Given the description of an element on the screen output the (x, y) to click on. 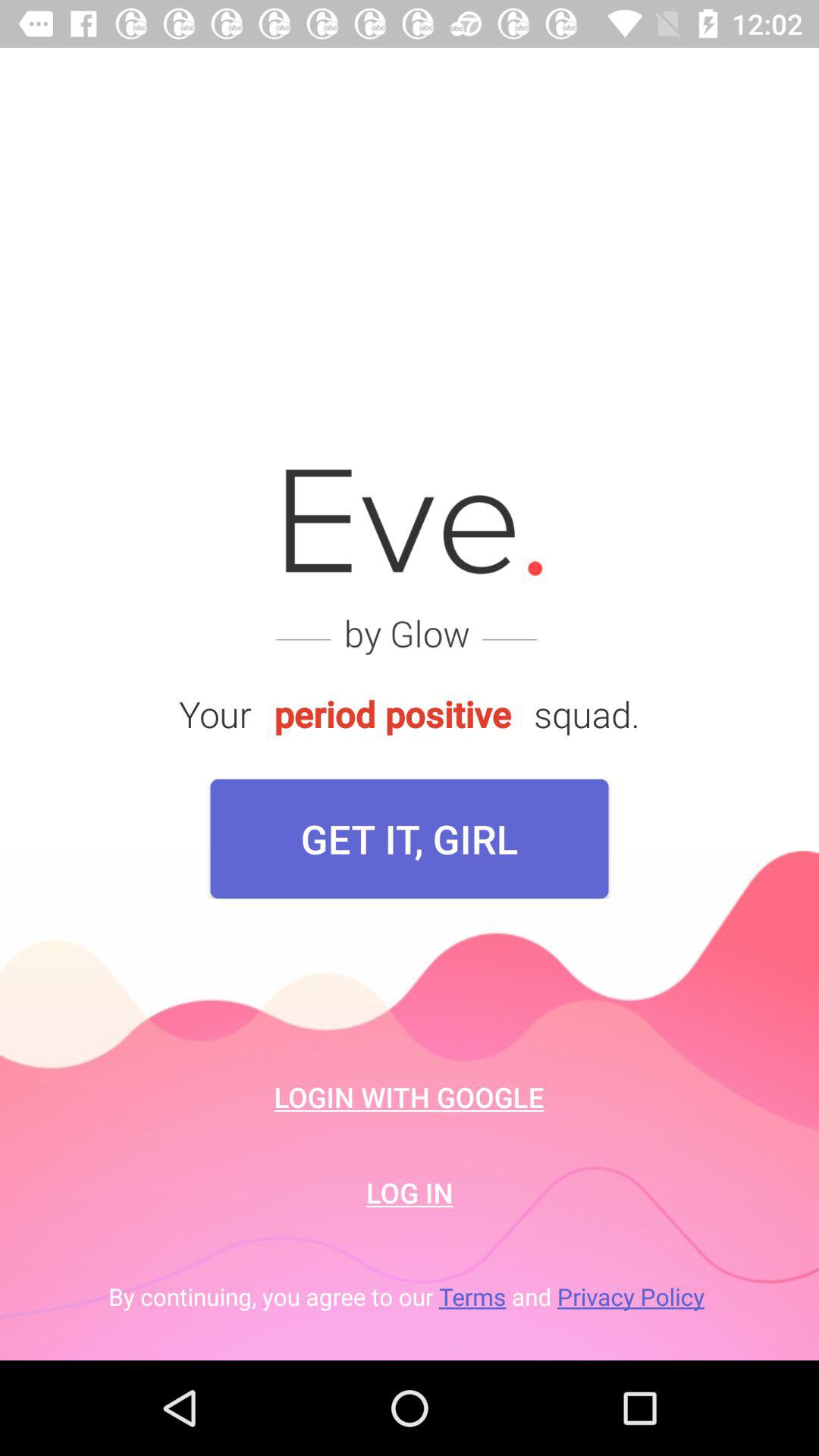
turn off icon above  log in  item (409, 1096)
